Given the description of an element on the screen output the (x, y) to click on. 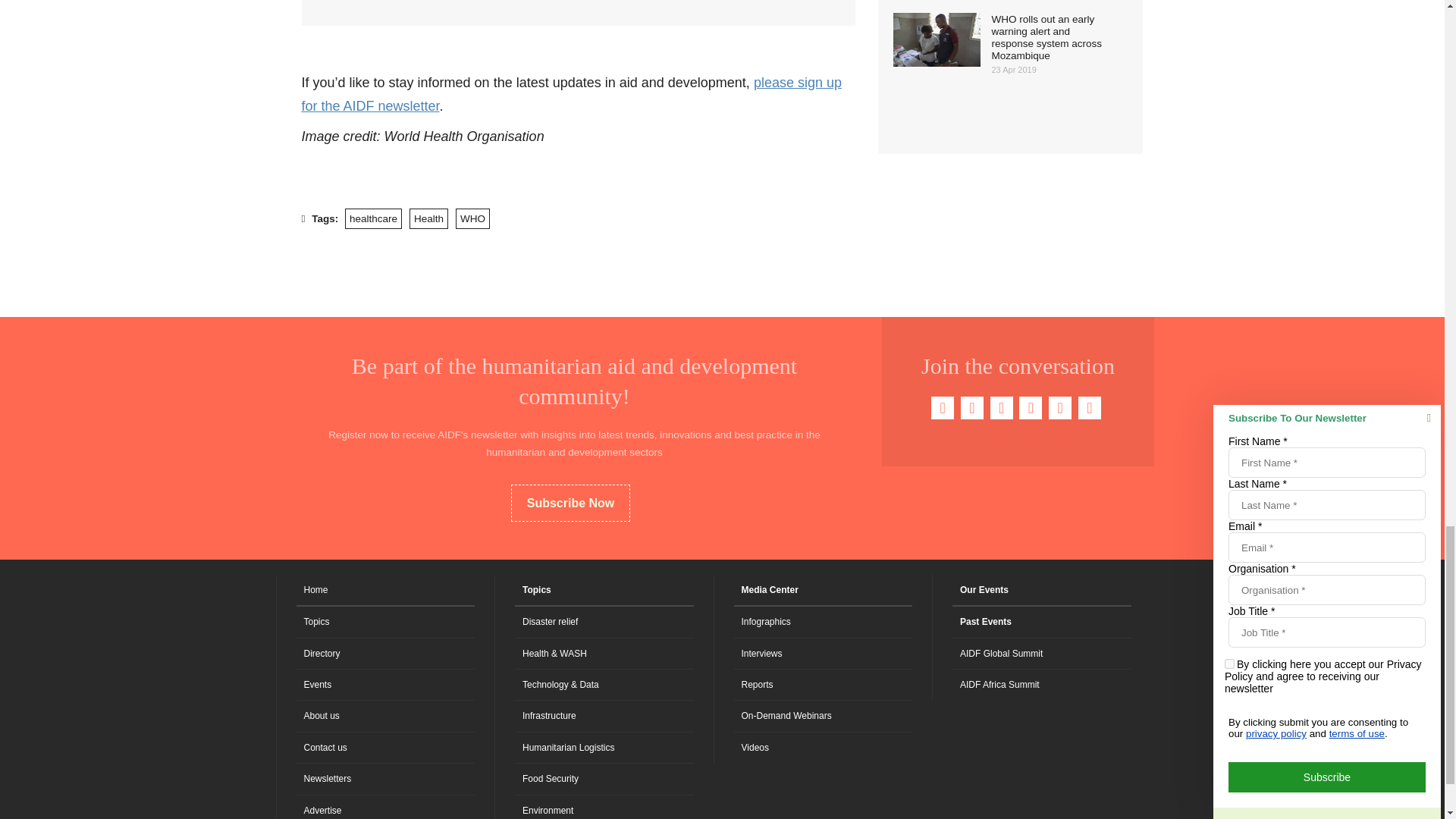
WHO (472, 218)
Health (428, 218)
healthcare (373, 218)
